Given the description of an element on the screen output the (x, y) to click on. 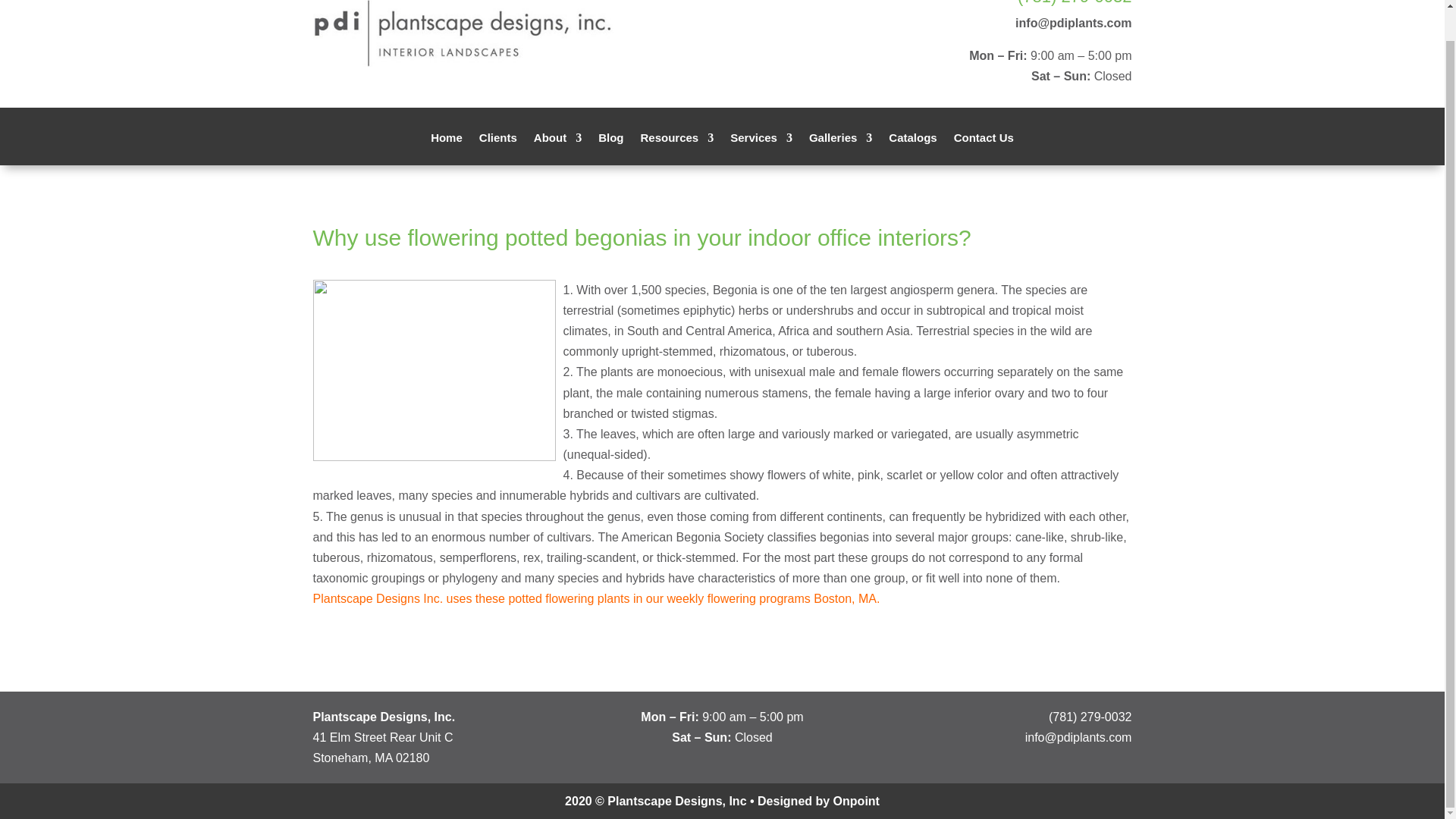
Galleries (840, 148)
Services (761, 148)
Catalogs (912, 148)
Resources (676, 148)
Contact Us (983, 148)
About (557, 148)
Clients (497, 148)
Home (446, 148)
